Given the description of an element on the screen output the (x, y) to click on. 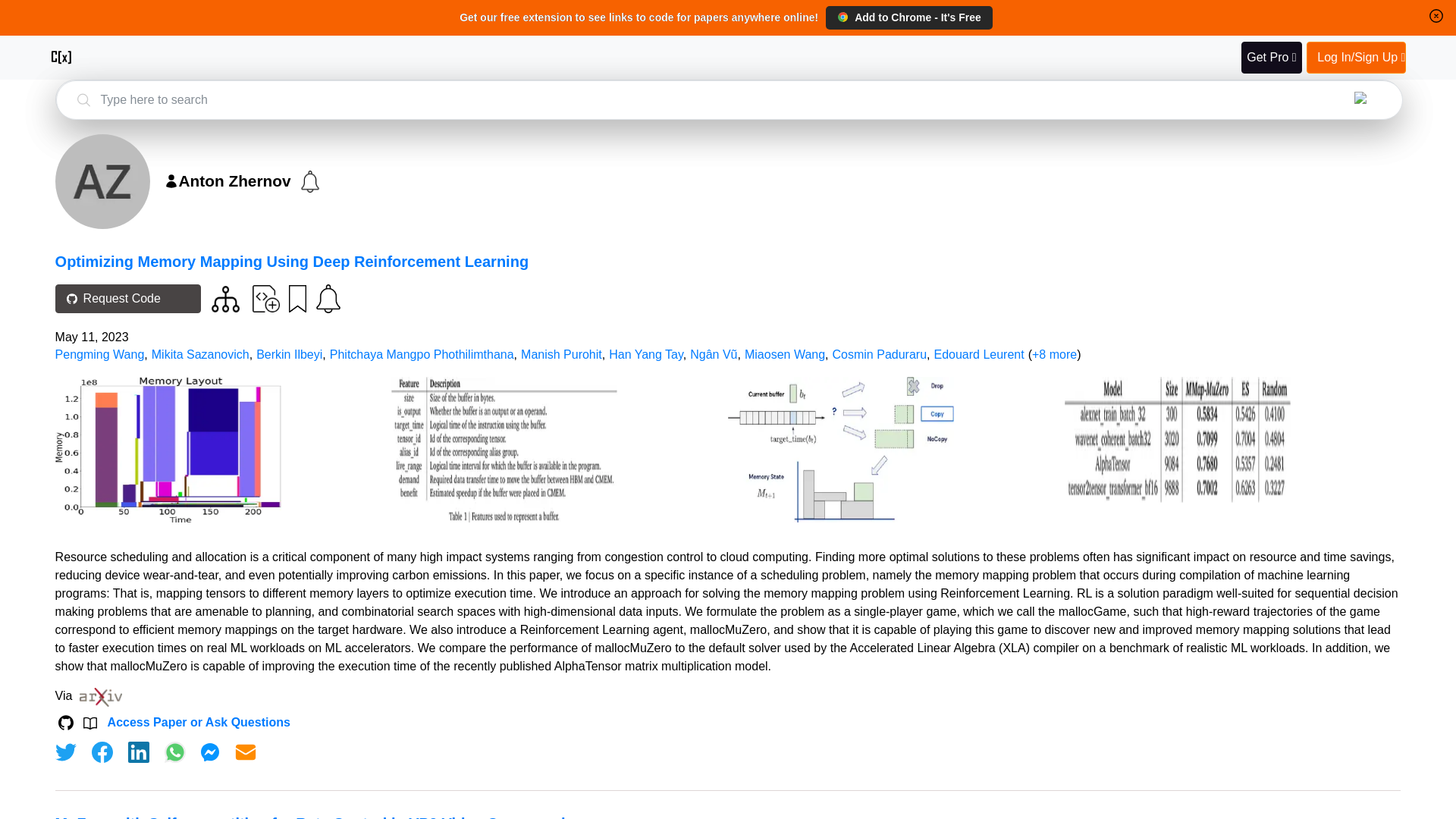
Berkin Ilbeyi (288, 354)
Manish Purohit (561, 354)
Optimizing Memory Mapping Using Deep Reinforcement Learning (292, 261)
Add to Chrome - It's Free (908, 17)
Phitchaya Mangpo Phothilimthana (421, 354)
Han Yang Tay (645, 354)
Edouard Leurent (978, 354)
Pengming Wang (99, 354)
Request Code (127, 298)
Access Paper or Ask Questions (198, 722)
Mikita Sazanovich (199, 354)
Cosmin Paduraru (879, 354)
Share via Email (245, 752)
Miaosen Wang (784, 354)
View code for similar papers (225, 298)
